Given the description of an element on the screen output the (x, y) to click on. 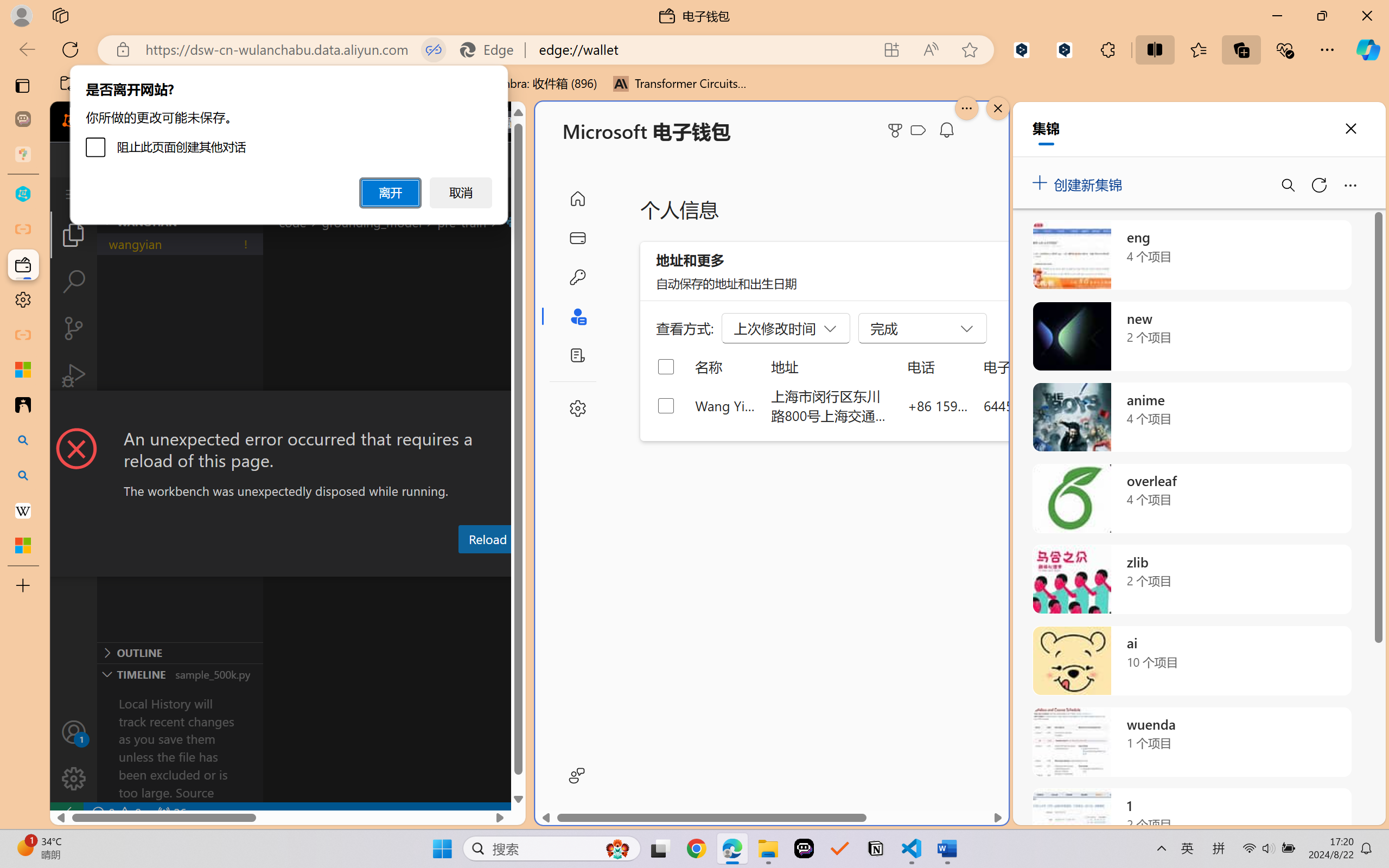
Manage (73, 755)
Accounts - Sign in requested (73, 732)
Class: actions-container (287, 410)
Debug Console (Ctrl+Shift+Y) (463, 565)
Outline Section (179, 652)
